Given the description of an element on the screen output the (x, y) to click on. 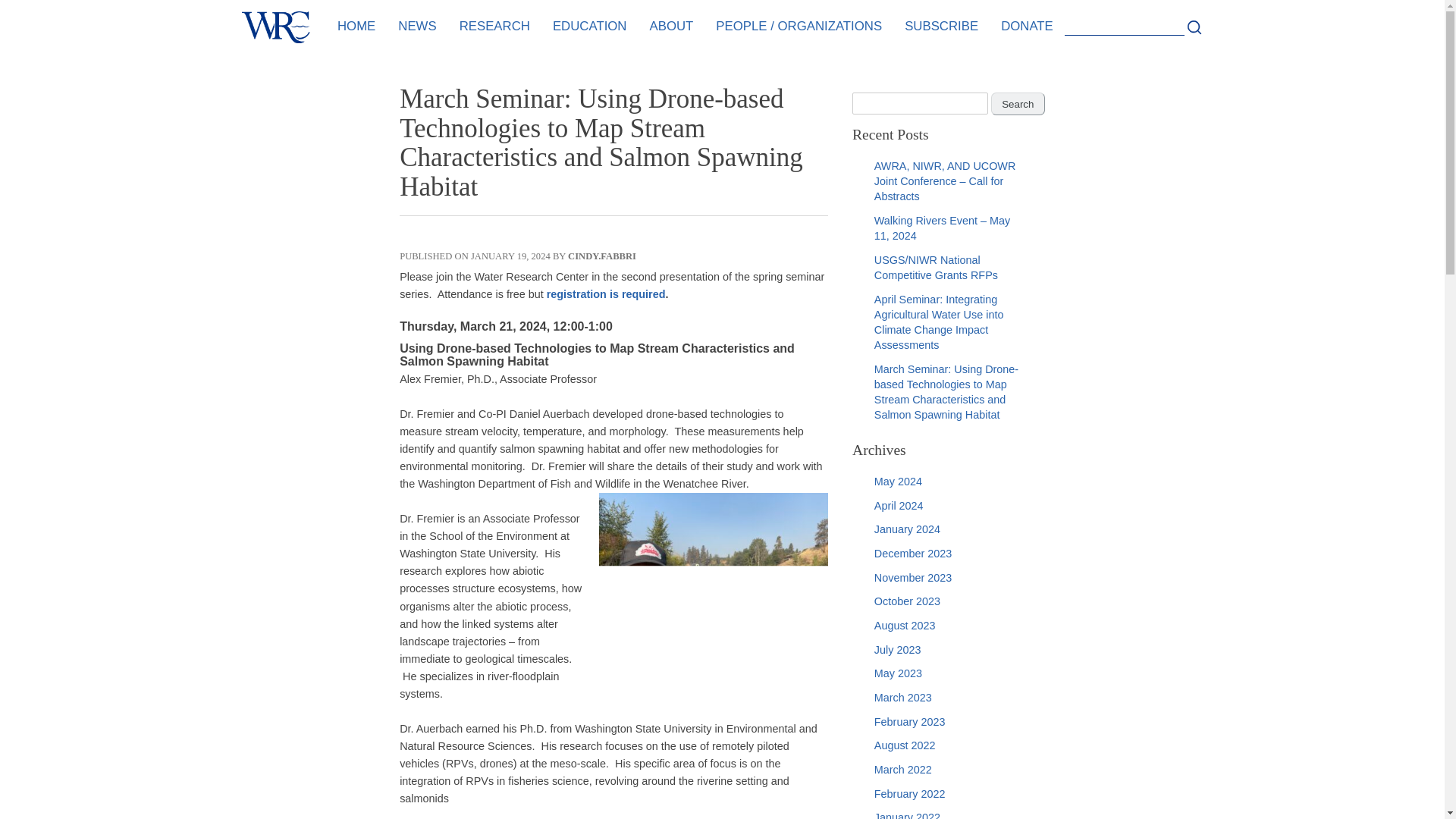
registration is required (606, 294)
CINDY.FABBRI (601, 255)
November 2023 (913, 577)
January 2024 (907, 529)
Search (1195, 28)
Search (1018, 103)
December 2023 (913, 553)
SUBSCRIBE (941, 26)
ABOUT (671, 26)
